Given the description of an element on the screen output the (x, y) to click on. 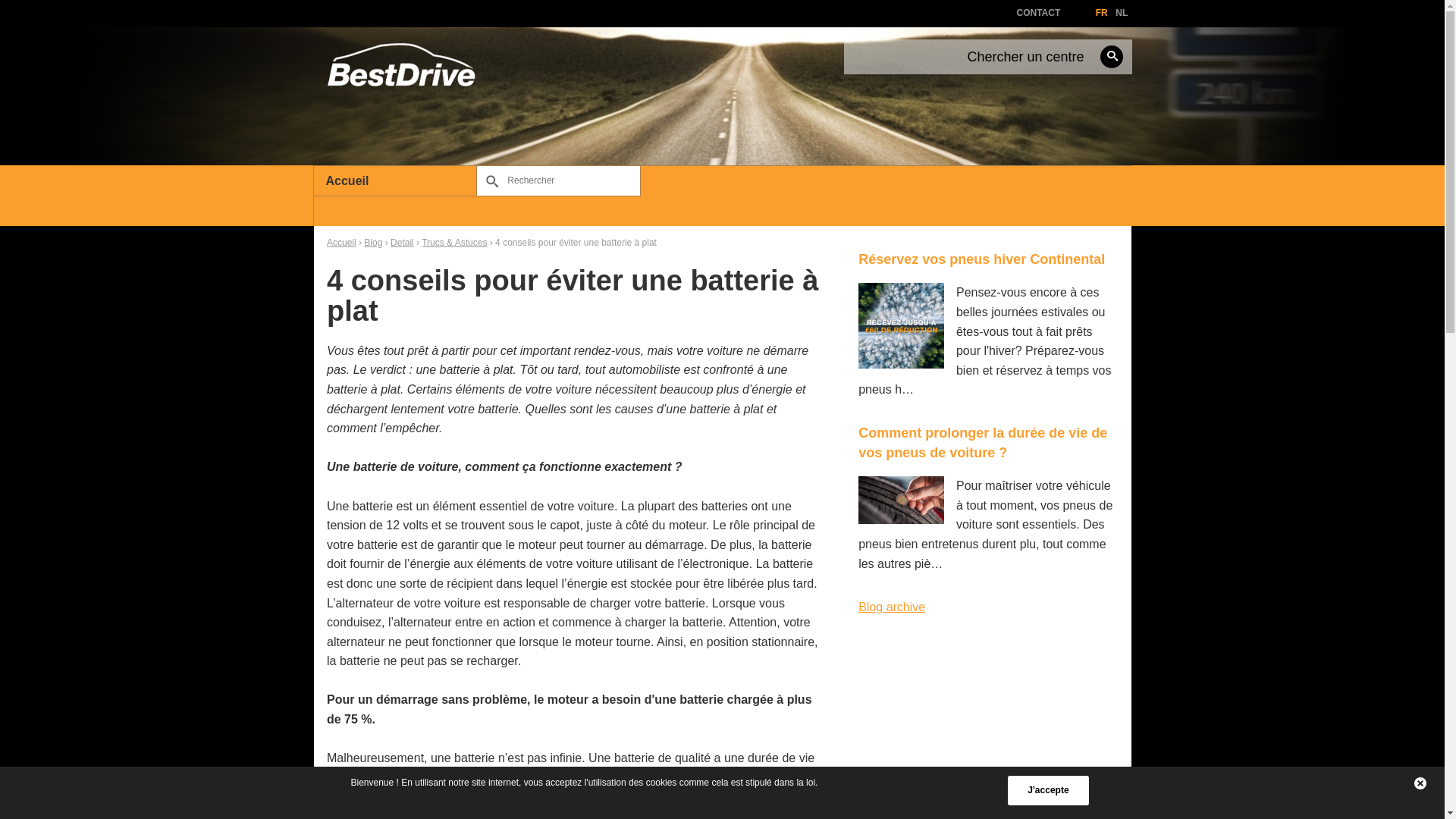
Accueil Element type: text (394, 181)
Accueil Element type: text (341, 242)
Blog Element type: text (373, 242)
Detail Element type: text (402, 242)
FR Element type: text (1101, 12)
J'accepte Element type: text (1047, 789)
Trucs & Astuces Element type: text (453, 242)
Blog archive Element type: text (891, 606)
NL Element type: text (1121, 12)
CONTACT Element type: text (1038, 12)
